Given the description of an element on the screen output the (x, y) to click on. 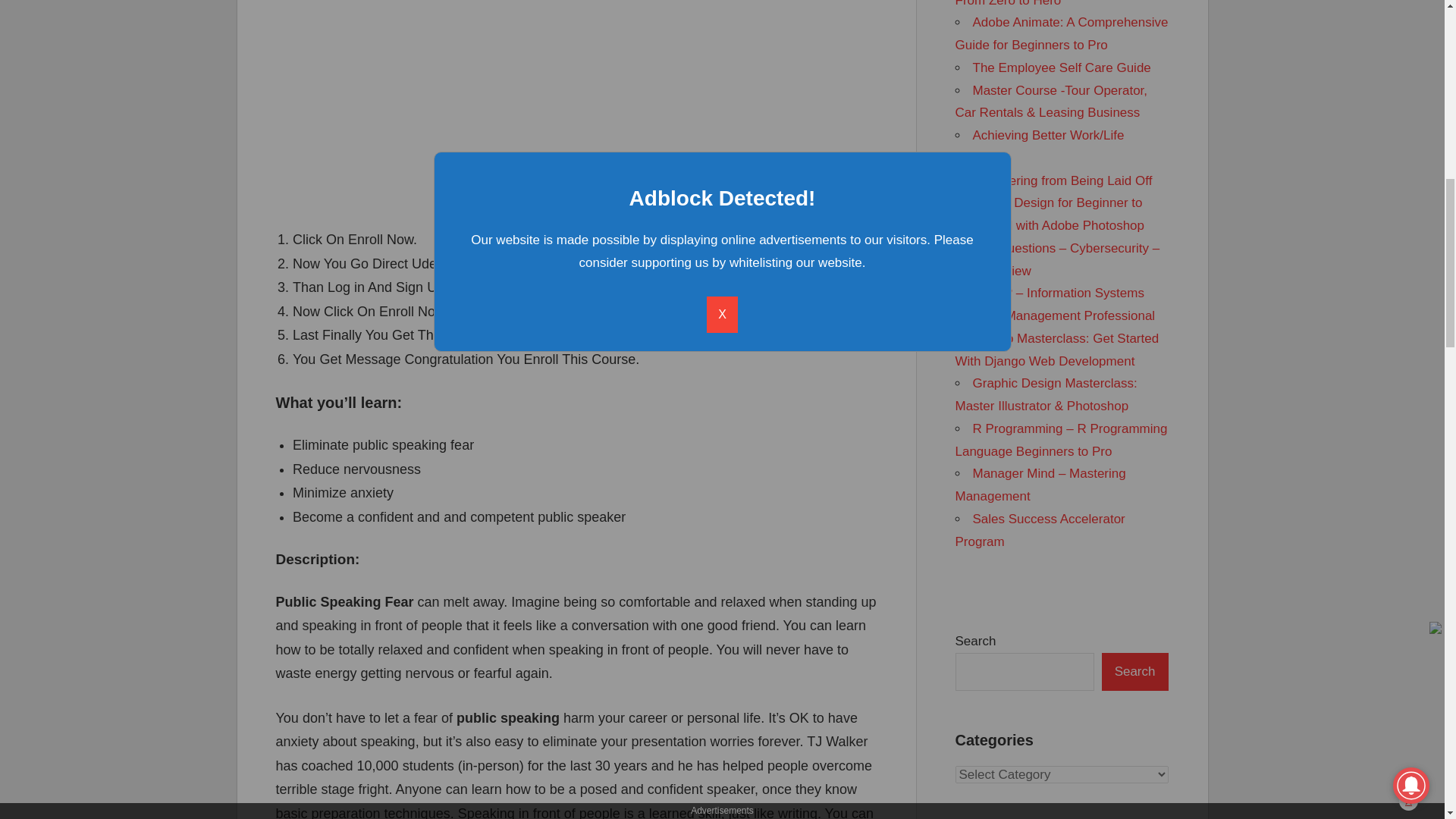
Advertisement (576, 104)
